Given the description of an element on the screen output the (x, y) to click on. 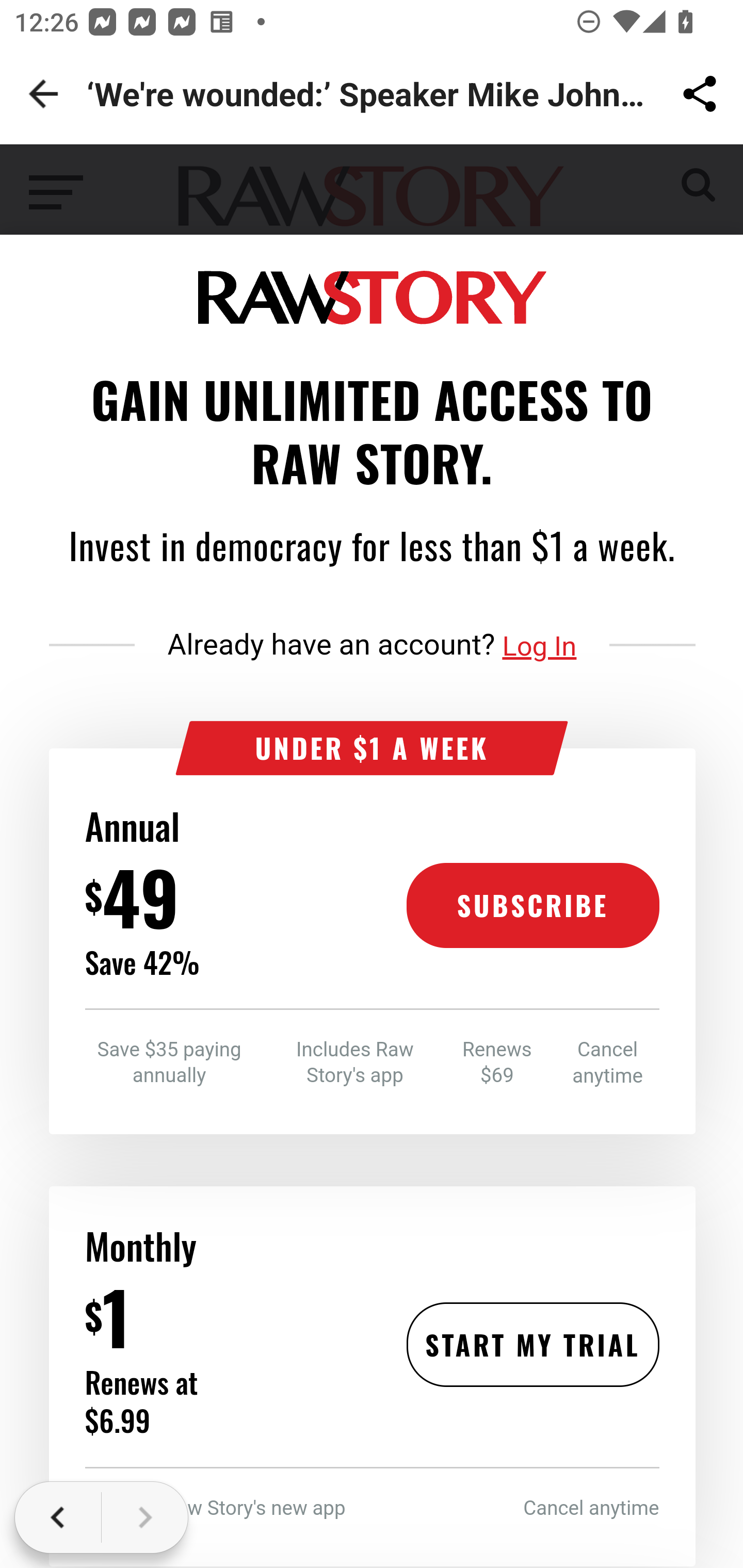
Log In (540, 645)
SUBSCRIBE (532, 906)
START MY TRIAL (532, 1344)
